Given the description of an element on the screen output the (x, y) to click on. 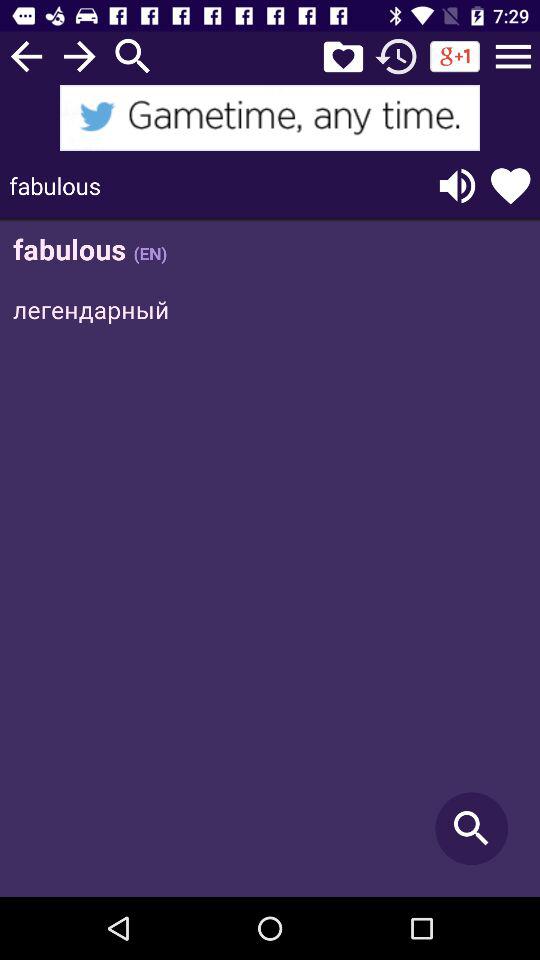
go to search (133, 56)
